Given the description of an element on the screen output the (x, y) to click on. 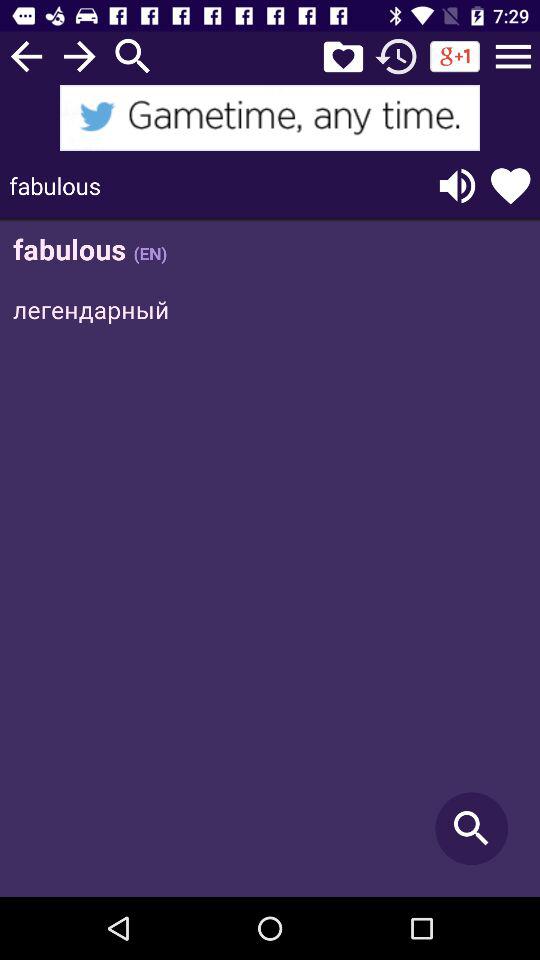
go to search (133, 56)
